Given the description of an element on the screen output the (x, y) to click on. 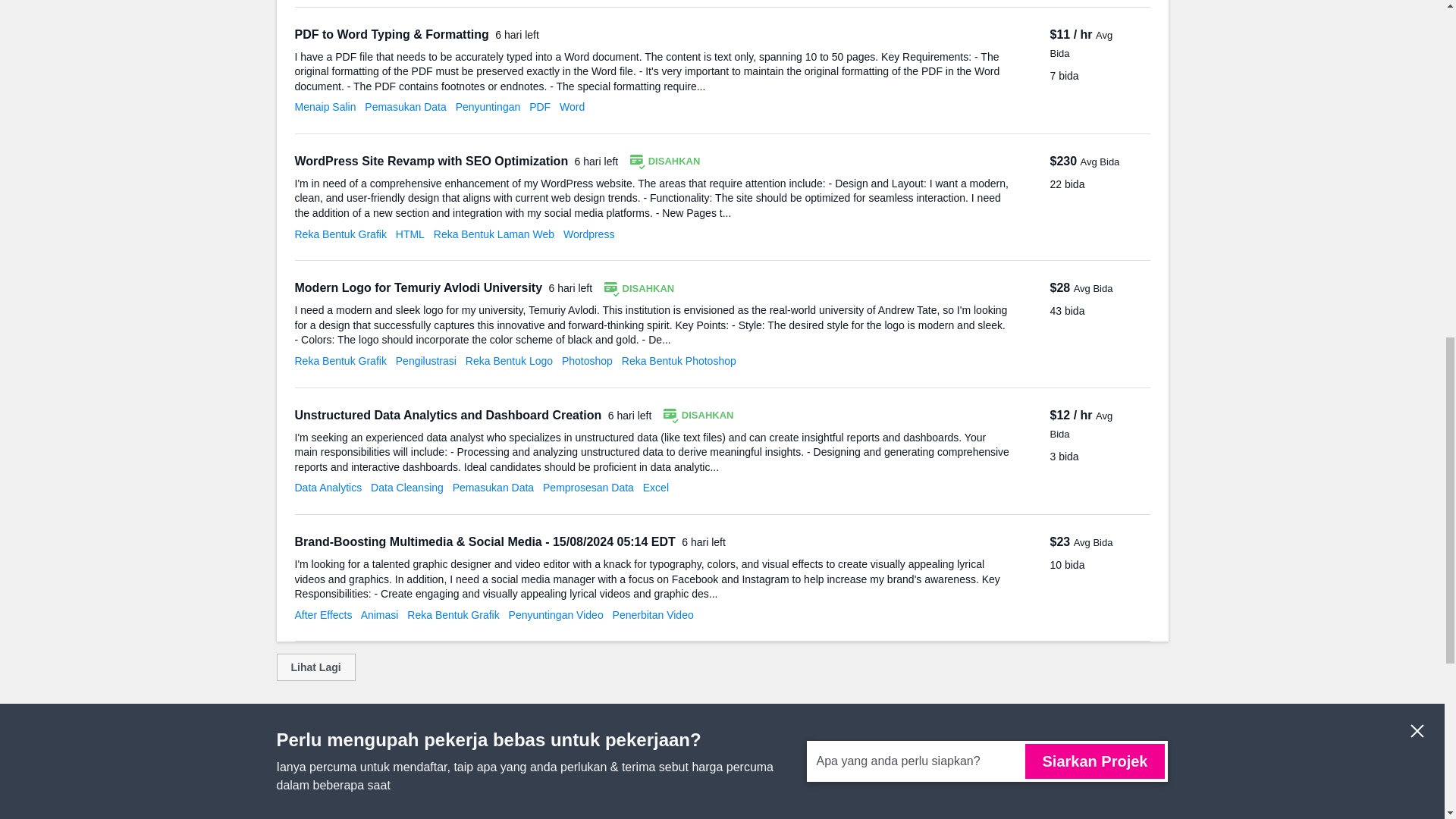
Penyuntingan (488, 106)
WordPress Site Revamp with SEO Optimization (432, 160)
PDF (539, 106)
Pemasukan Data (405, 106)
Word (572, 106)
Menaip Salin (324, 106)
Muat turun di App Store (1085, 813)
